Given the description of an element on the screen output the (x, y) to click on. 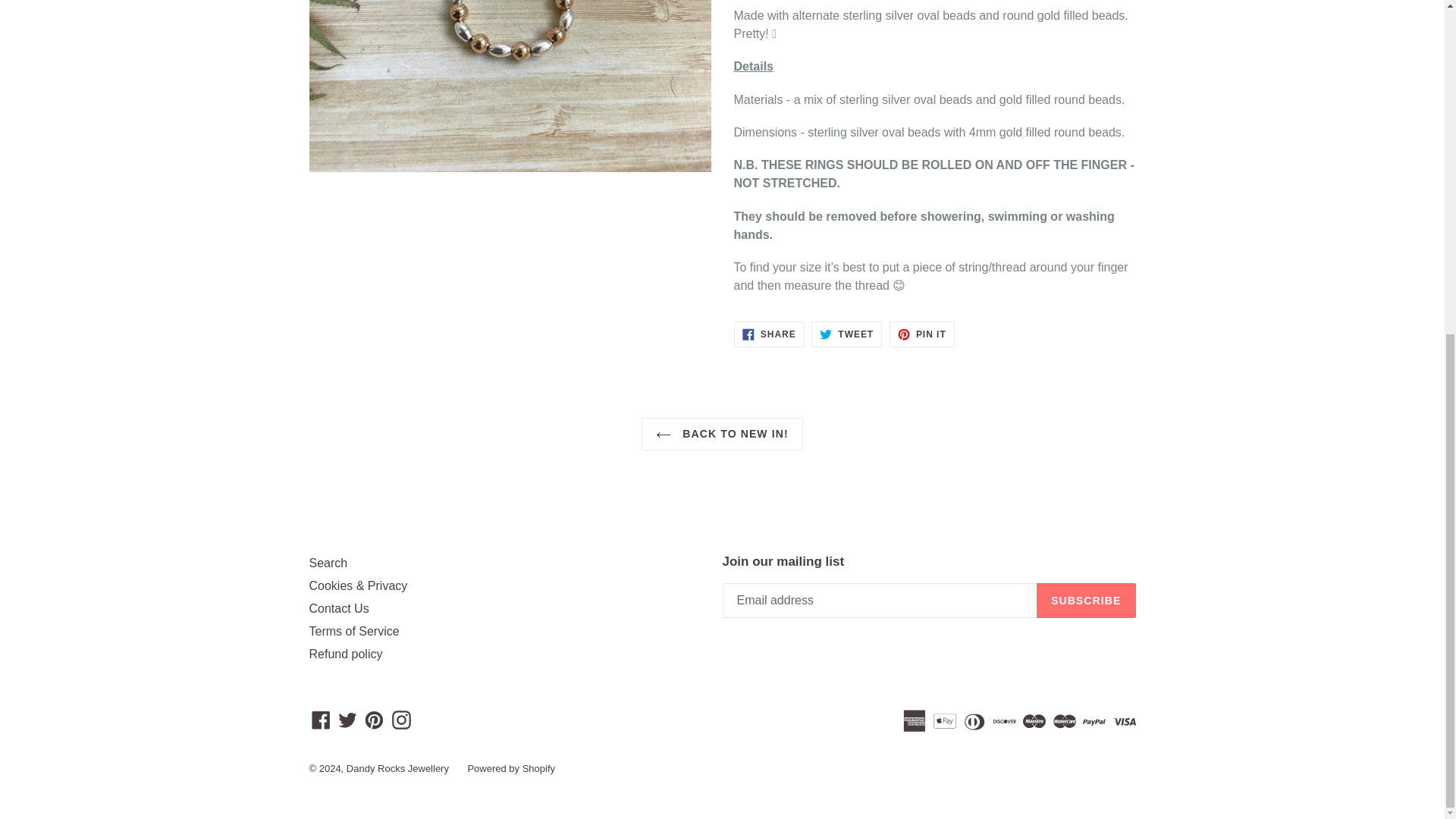
BACK TO NEW IN! (769, 334)
Pin on Pinterest (722, 433)
Tweet on Twitter (922, 334)
Contact Us (846, 334)
Dandy Rocks Jewellery on Facebook (338, 608)
Share on Facebook (846, 334)
Search (320, 719)
SUBSCRIBE (769, 334)
